Given the description of an element on the screen output the (x, y) to click on. 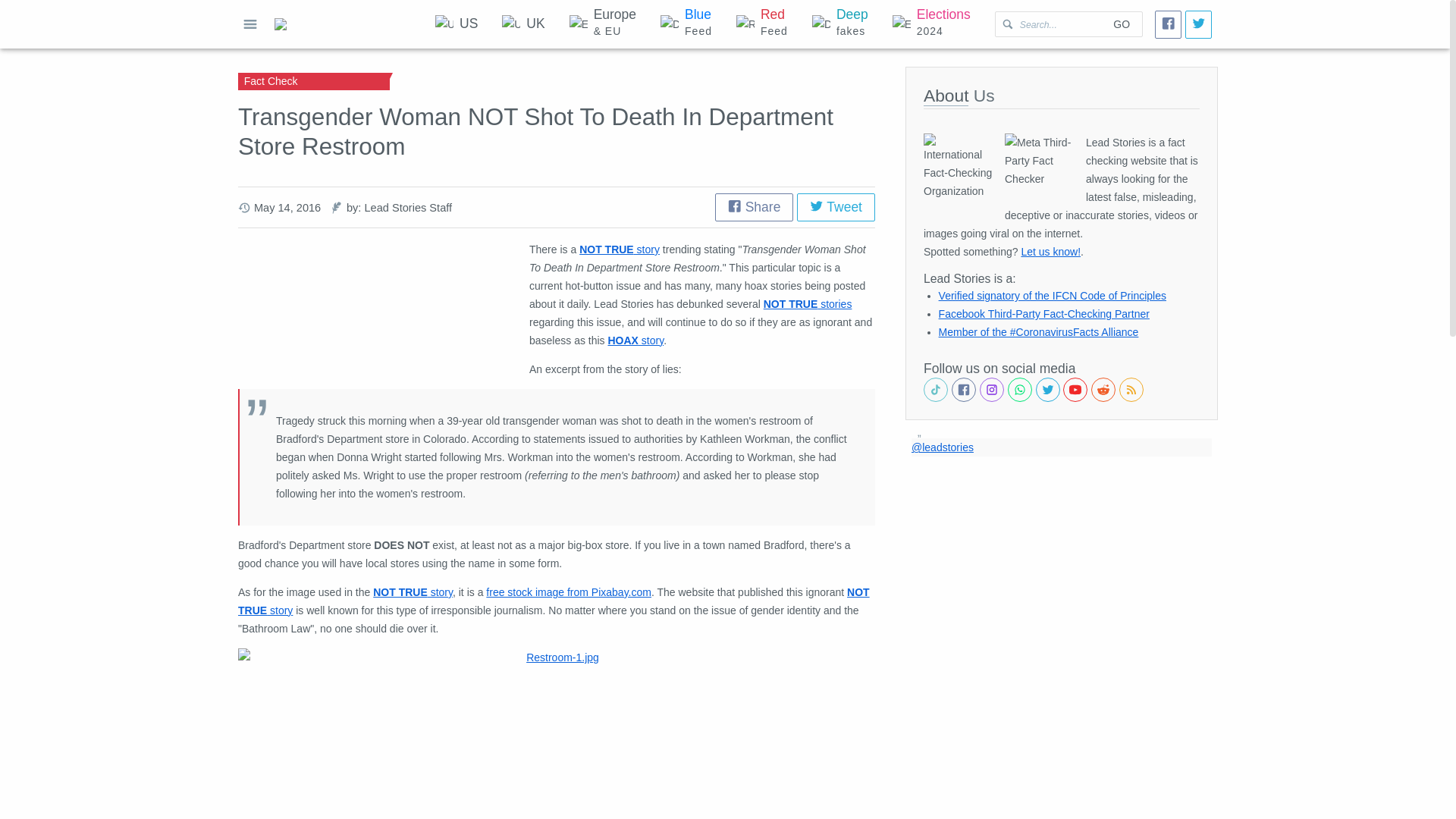
GO (1120, 24)
Verified signatory of the IFCN Code of Principles (685, 24)
Let us know! (839, 24)
UK (1052, 295)
Tweet (1050, 251)
free stock image from Pixabay.com (522, 24)
NOT TRUE story (835, 207)
NOT TRUE story (568, 592)
NOT TRUE stories (412, 592)
Facebook Third-Party Fact-Checking Partner (553, 601)
Share (806, 304)
NOT TRUE story (1044, 313)
